Given the description of an element on the screen output the (x, y) to click on. 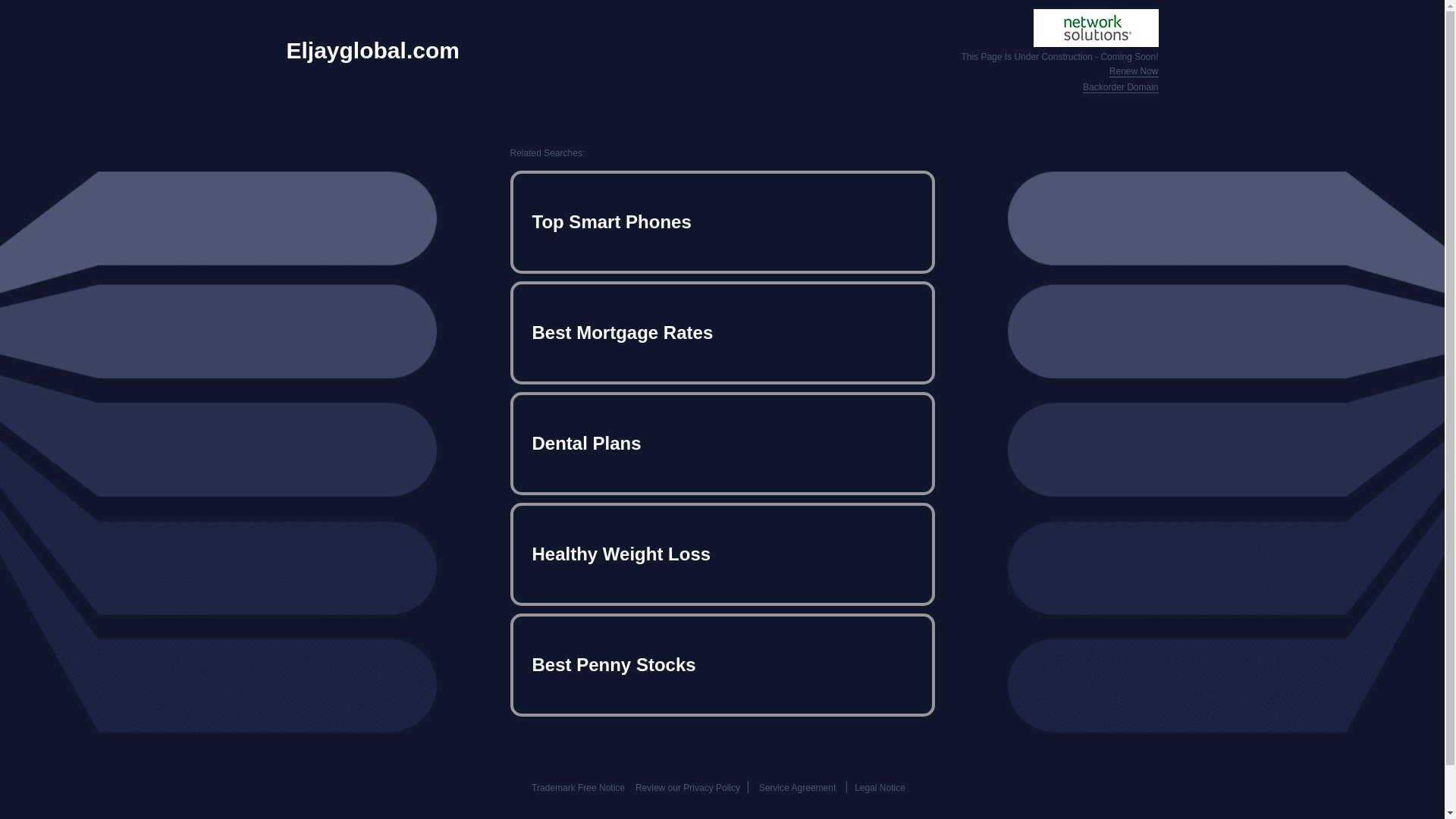
Review our Privacy Policy (686, 787)
Legal Notice (879, 787)
Healthy Weight Loss (721, 554)
Dental Plans (721, 443)
Backorder Domain (1120, 87)
Best Mortgage Rates (721, 332)
Best Penny Stocks (721, 664)
Best Mortgage Rates (721, 332)
Eljayglobal.com (373, 50)
Dental Plans (721, 443)
Service Agreement (796, 787)
Best Penny Stocks (721, 664)
Top Smart Phones (721, 222)
Healthy Weight Loss (721, 554)
Top Smart Phones (721, 222)
